Given the description of an element on the screen output the (x, y) to click on. 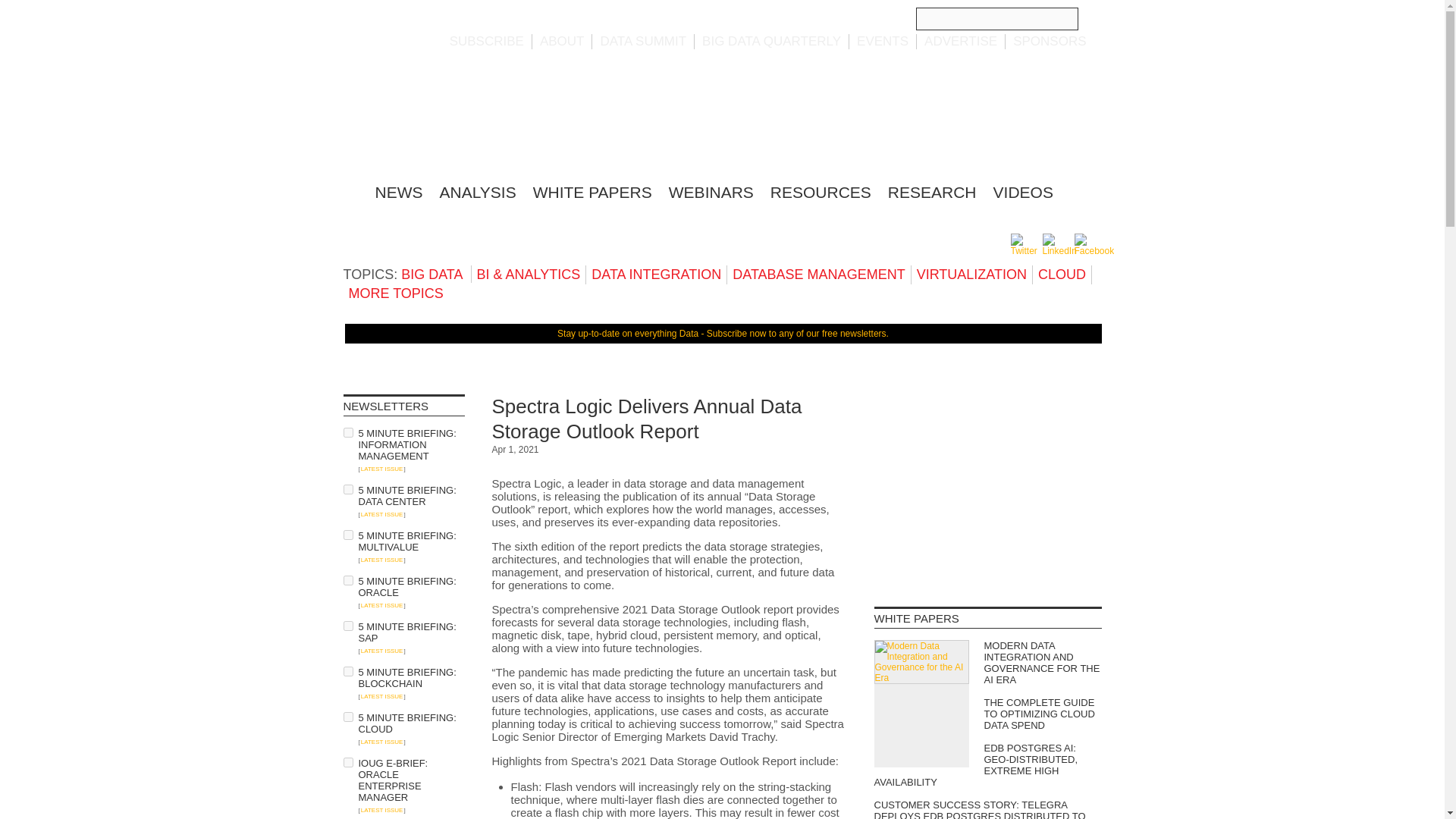
WEBINARS (711, 191)
WHITE PAPERS (592, 191)
DBTA on LinkedIn (1058, 250)
on (347, 489)
NEWS (398, 191)
DBTA on Facebook (1093, 250)
on (347, 625)
on (347, 534)
Modern Data Integration and Governance for the AI Era (920, 661)
